Given the description of an element on the screen output the (x, y) to click on. 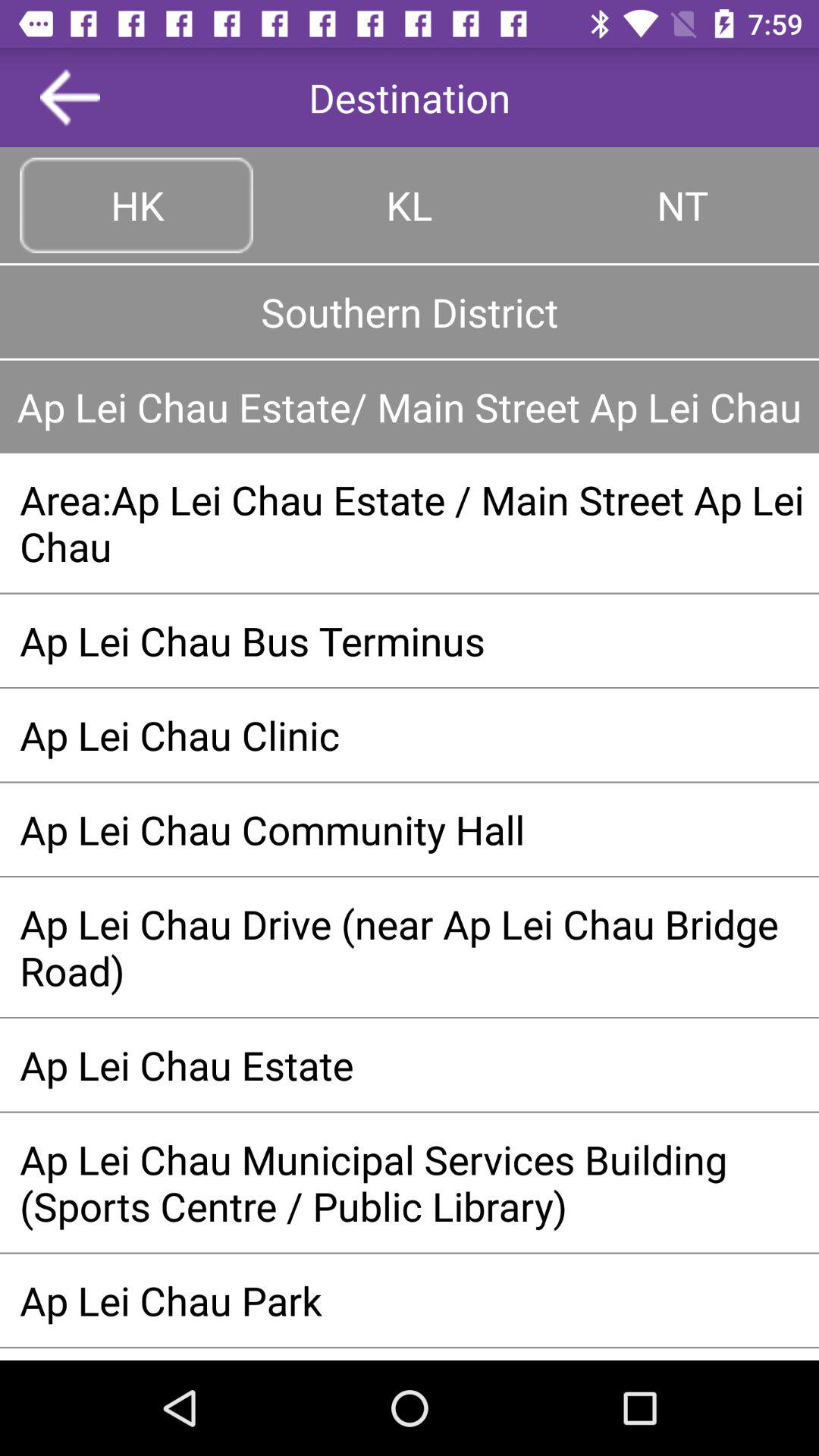
move to hk tab (136, 205)
click on kl (409, 205)
go to left of destination (69, 96)
